Given the description of an element on the screen output the (x, y) to click on. 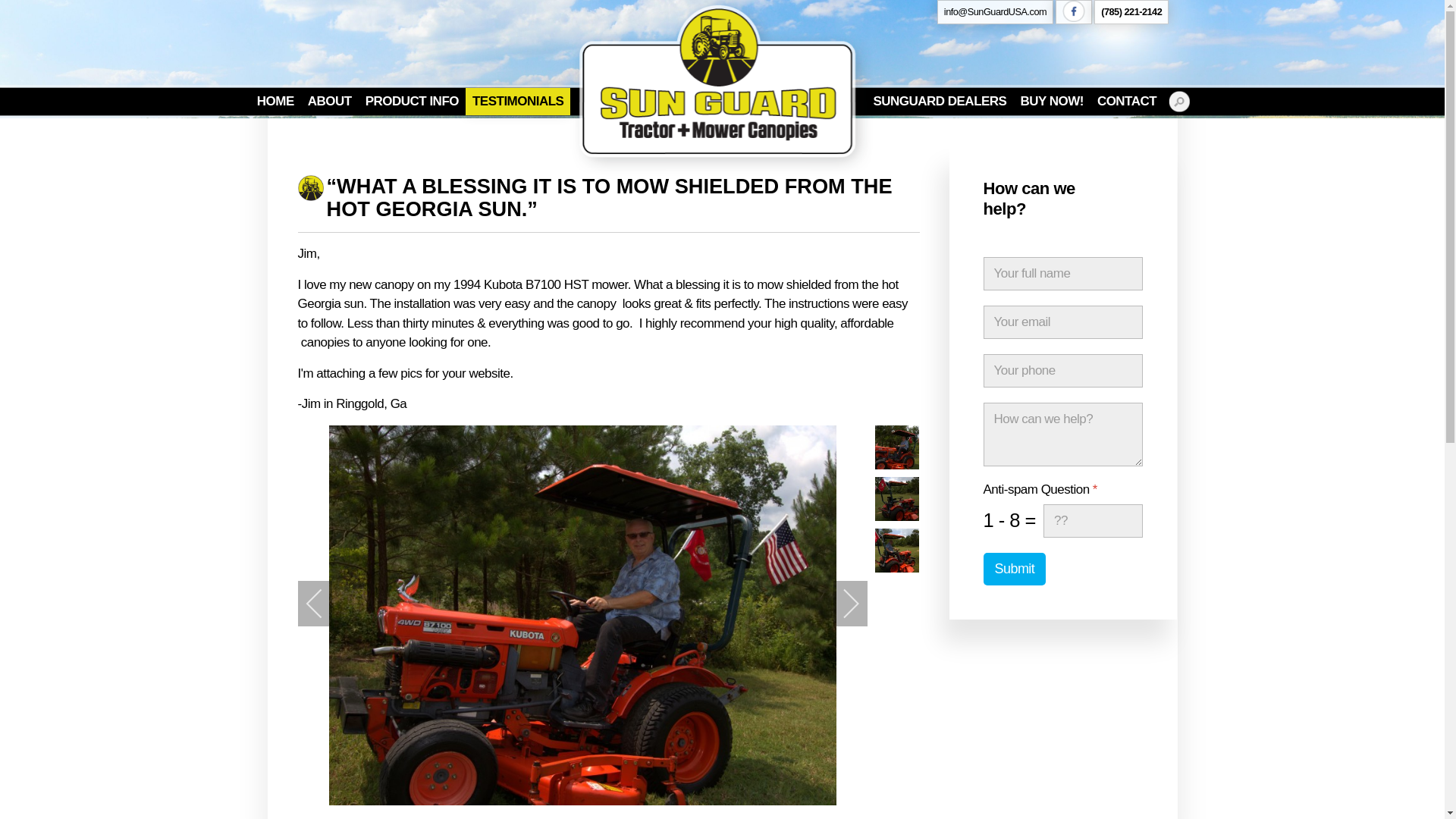
CONTACT (1126, 101)
0 (892, 450)
0 (892, 502)
HOME (275, 101)
BUY NOW! (1051, 101)
IMG 5342 (896, 446)
TESTIMONIALS (517, 101)
Submit (1013, 568)
IMG 5347 (896, 550)
IMG 5345 (896, 498)
SEARCH (1178, 100)
SUNGUARD DEALERS (939, 101)
PRODUCT INFO (411, 101)
ABOUT (329, 101)
